Given the description of an element on the screen output the (x, y) to click on. 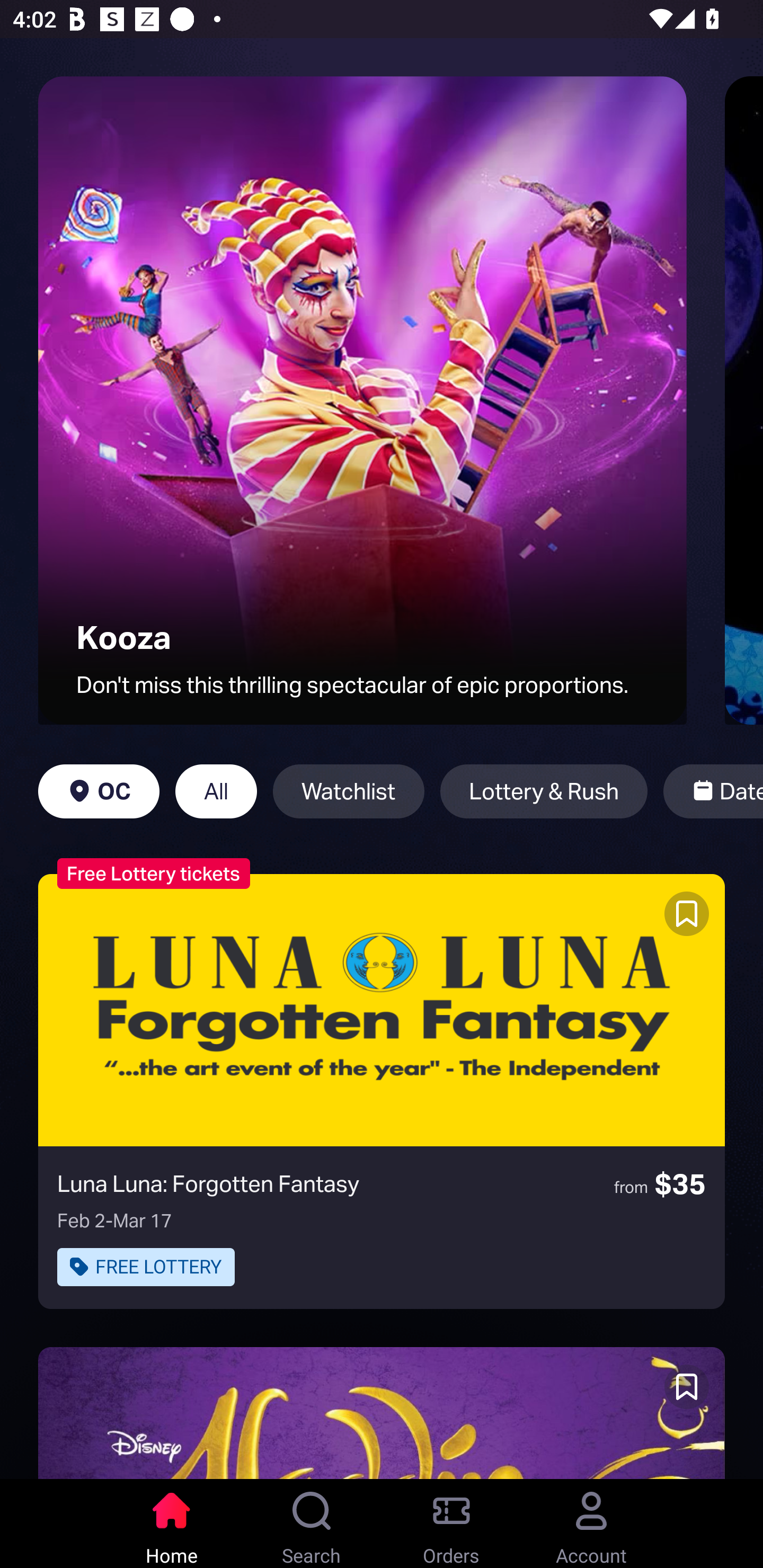
OC (98, 791)
All (216, 791)
Watchlist (348, 791)
Lottery & Rush (543, 791)
Search (311, 1523)
Orders (451, 1523)
Account (591, 1523)
